Given the description of an element on the screen output the (x, y) to click on. 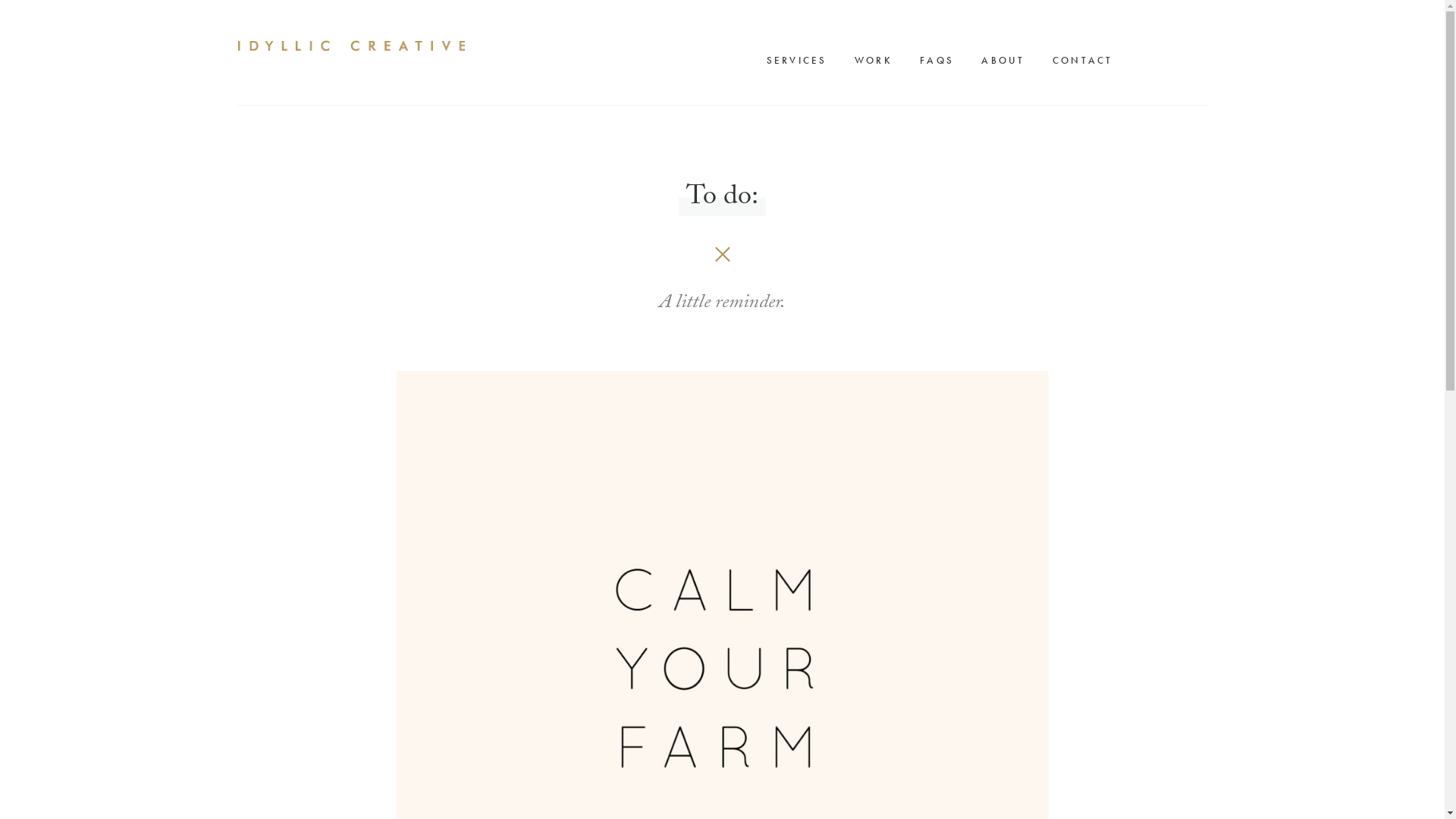
ABOUT Element type: text (1006, 60)
Idyllic Creative Element type: text (350, 45)
SERVICES Element type: text (799, 60)
WORK Element type: text (877, 60)
CONTACT Element type: text (1086, 60)
FAQS Element type: text (940, 60)
